Given the description of an element on the screen output the (x, y) to click on. 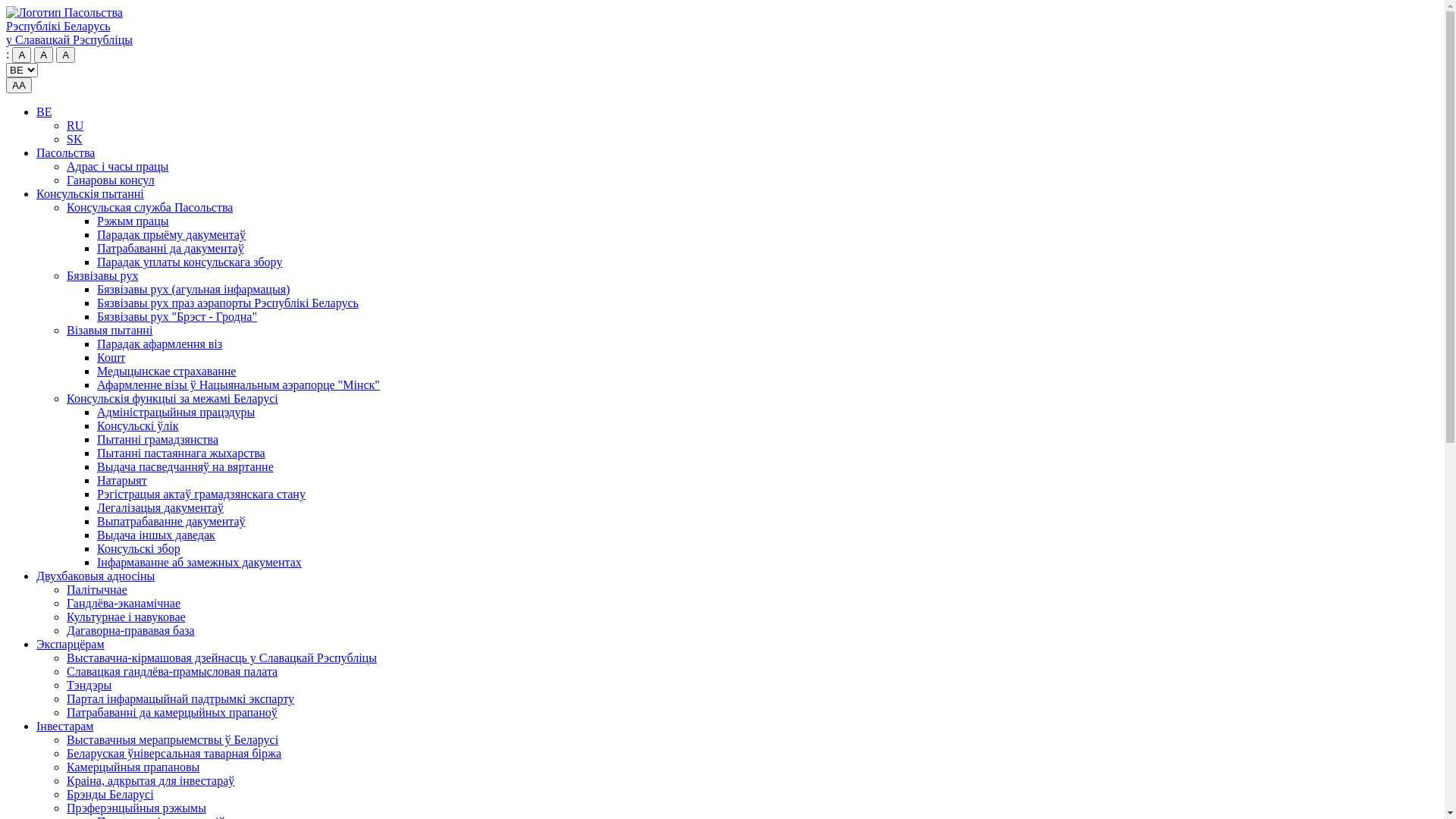
SK Element type: text (73, 138)
A Element type: text (65, 54)
RU Element type: text (74, 125)
AA Element type: text (18, 85)
A Element type: text (21, 54)
A Element type: text (43, 54)
BE Element type: text (43, 111)
